Given the description of an element on the screen output the (x, y) to click on. 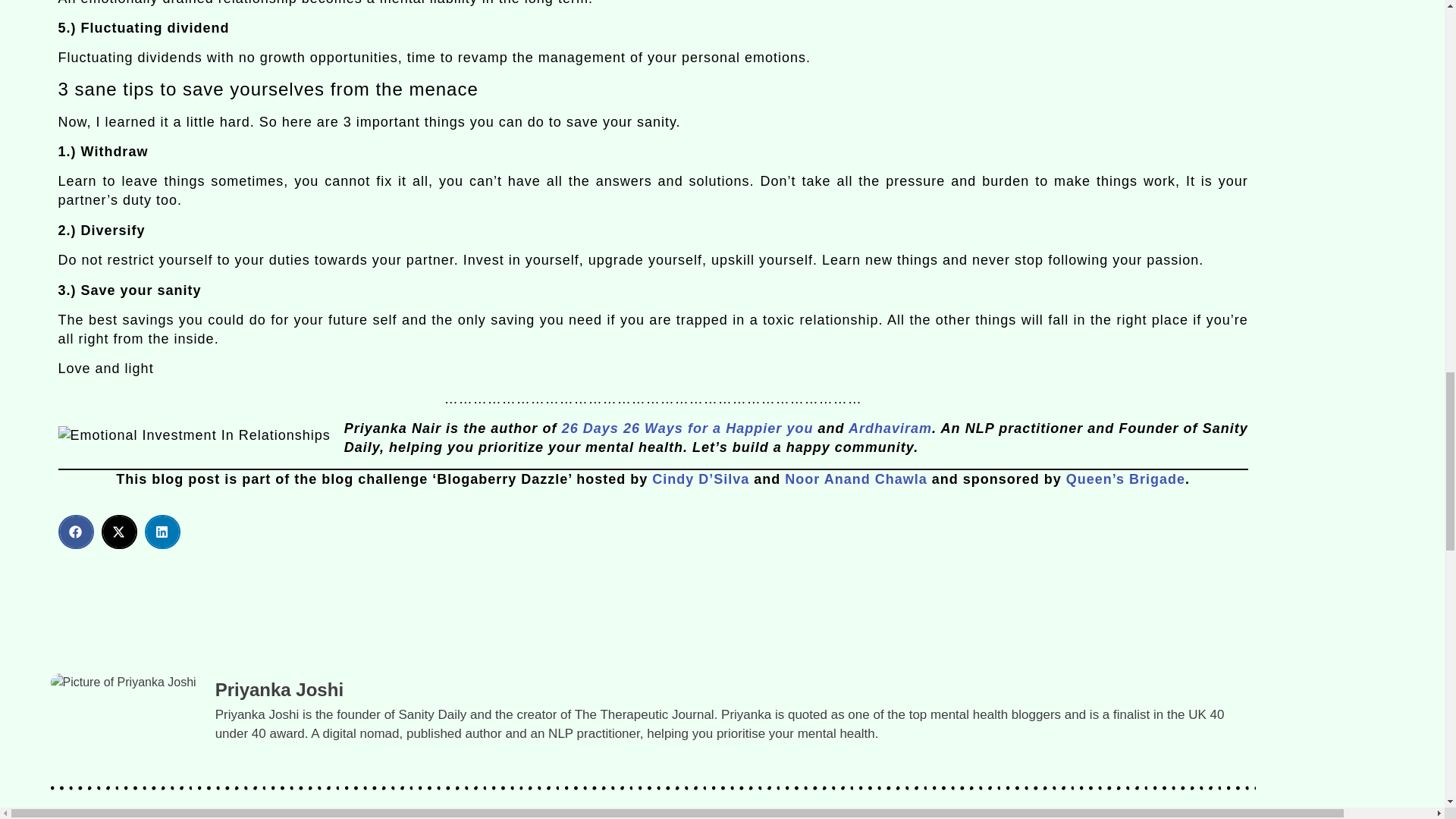
Noor Anand Chawla (855, 478)
Ardhaviram (889, 427)
26 Days 26 Ways for a Happier you  (690, 427)
Emotional Investment In Relationships (194, 435)
